Given the description of an element on the screen output the (x, y) to click on. 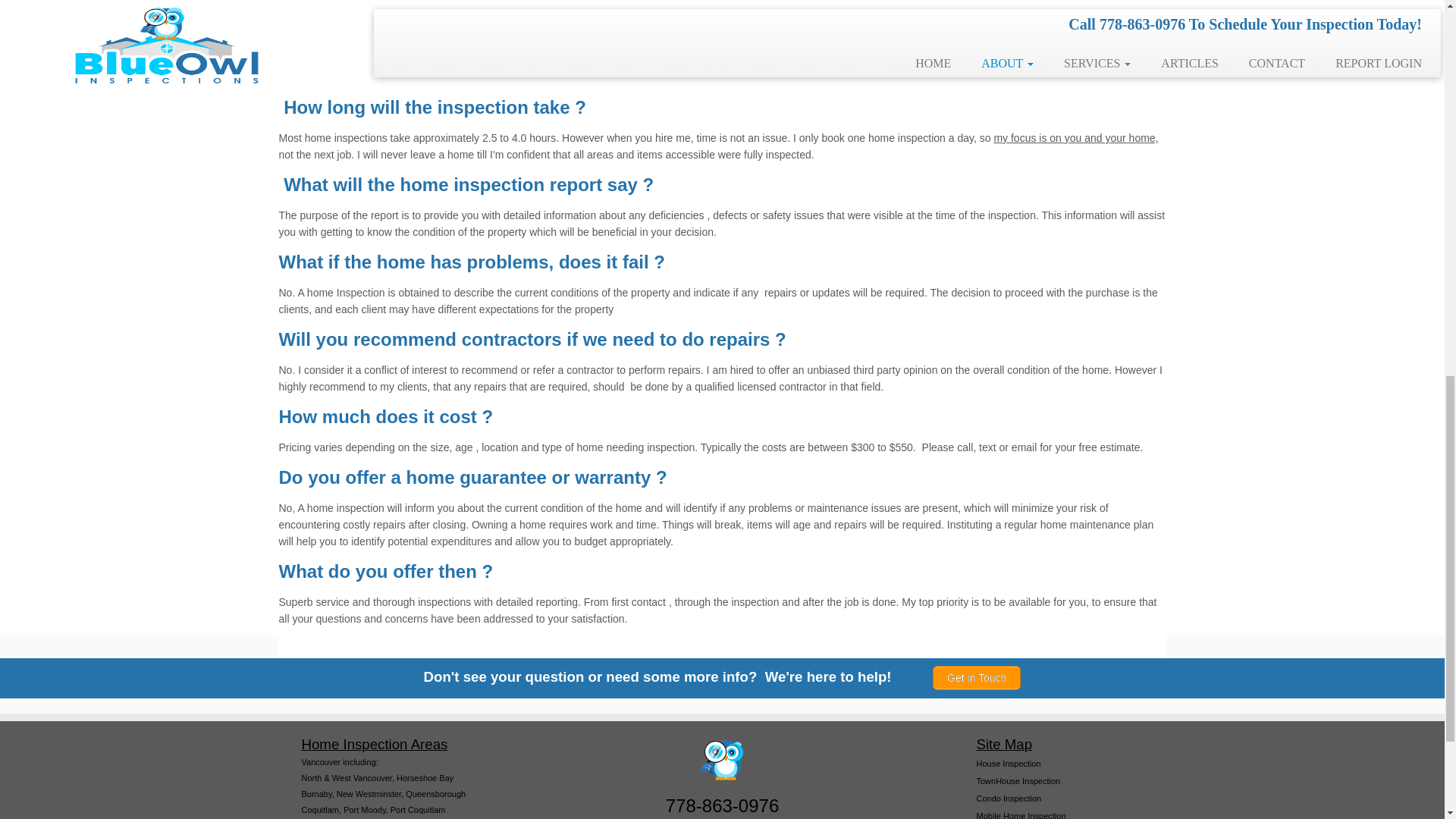
Get in Touch (976, 677)
TownHouse Inspection (1018, 780)
Condo Inspection (1009, 798)
House Inspection (1008, 763)
Mobile Home Inspection (1020, 815)
